Given the description of an element on the screen output the (x, y) to click on. 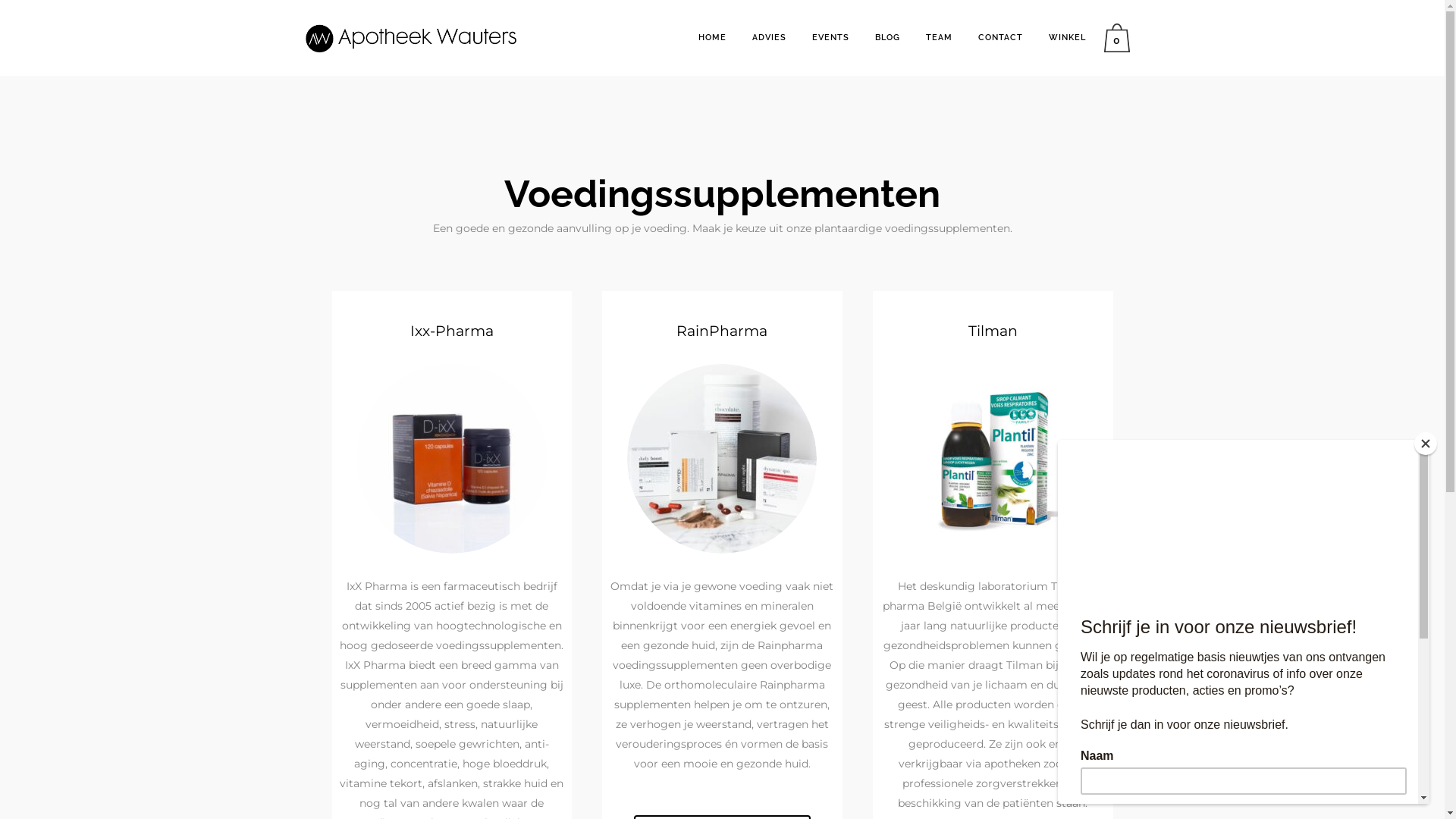
PhamilyPharma-Online-RainPharma-Smart-Nutrition-Project-B Element type: hover (721, 458)
ADVIES Element type: text (768, 37)
EVENTS Element type: text (830, 37)
BLOG Element type: text (886, 37)
0 Element type: text (1120, 37)
WINKEL Element type: text (1066, 37)
TEAM Element type: text (939, 37)
CONTACT Element type: text (999, 37)
e0f8c60826d76be0f4e7d8bfda96906f3812f24c_nl_BE Element type: hover (451, 458)
HOME Element type: text (712, 37)
